Given the description of an element on the screen output the (x, y) to click on. 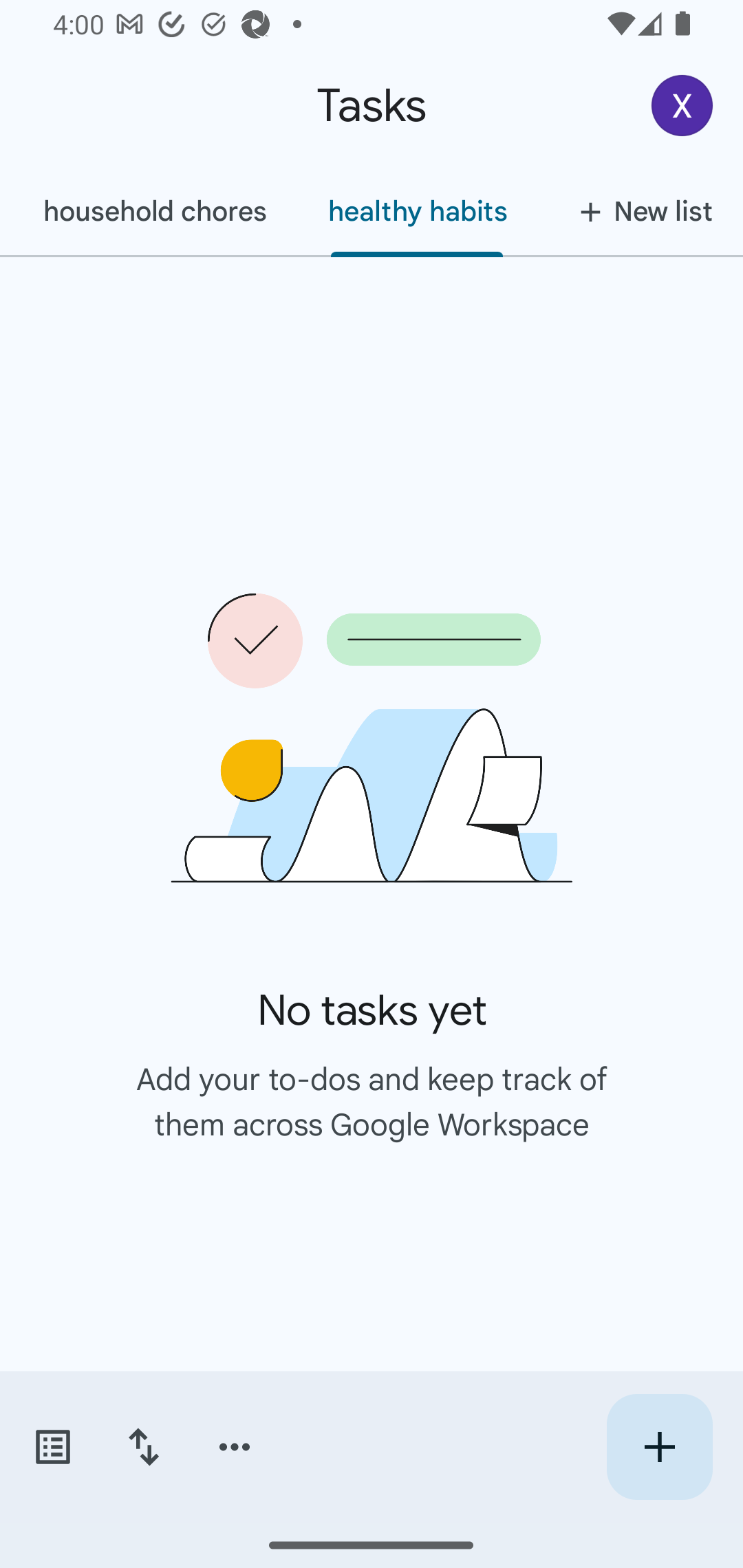
household chores (154, 211)
New list (640, 211)
Switch task lists (52, 1447)
Create new task (659, 1446)
Change sort order (143, 1446)
More options (234, 1446)
